Given the description of an element on the screen output the (x, y) to click on. 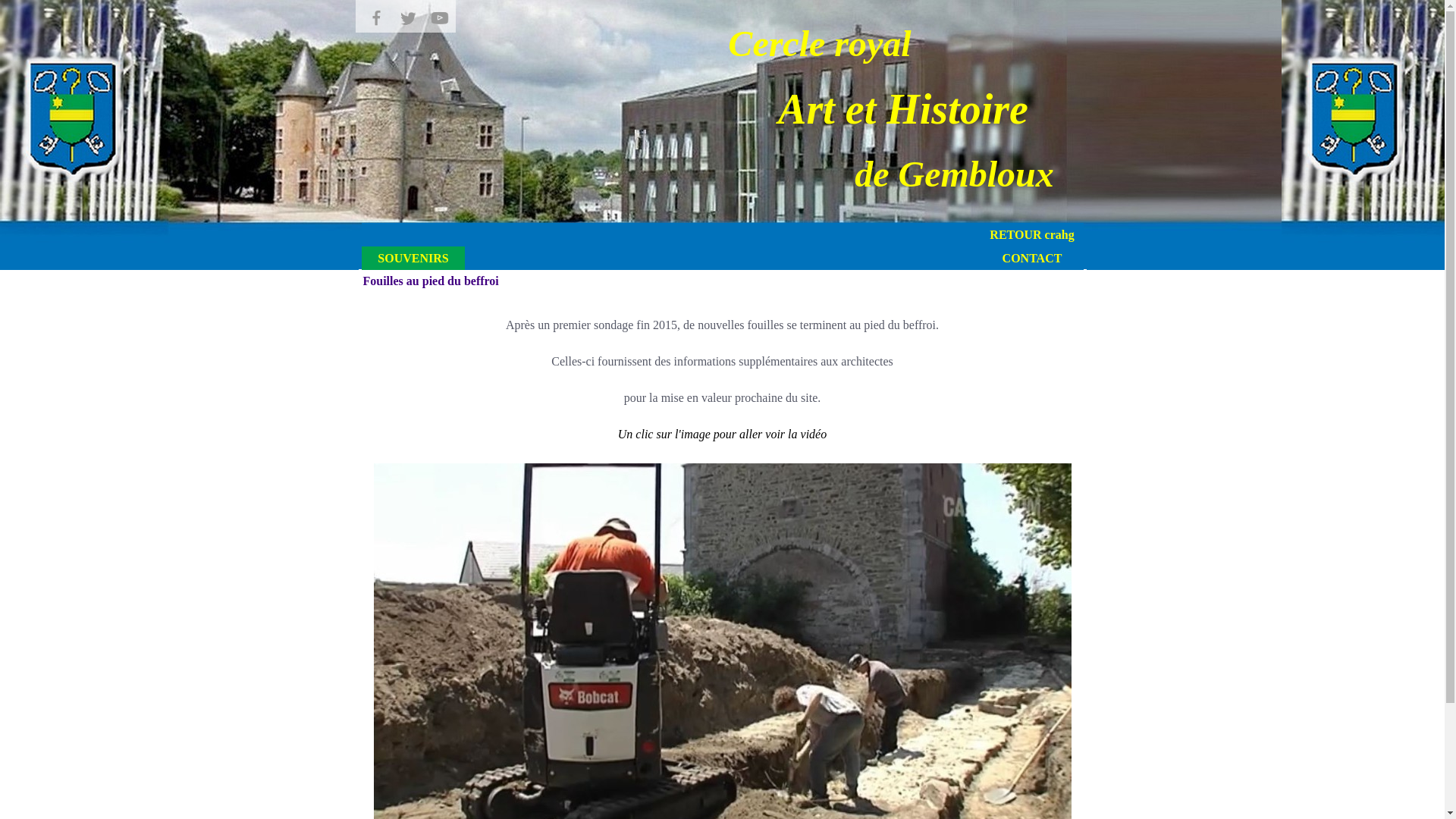
RETOUR crahg Element type: text (1032, 234)
CONTACT Element type: text (1032, 257)
